Given the description of an element on the screen output the (x, y) to click on. 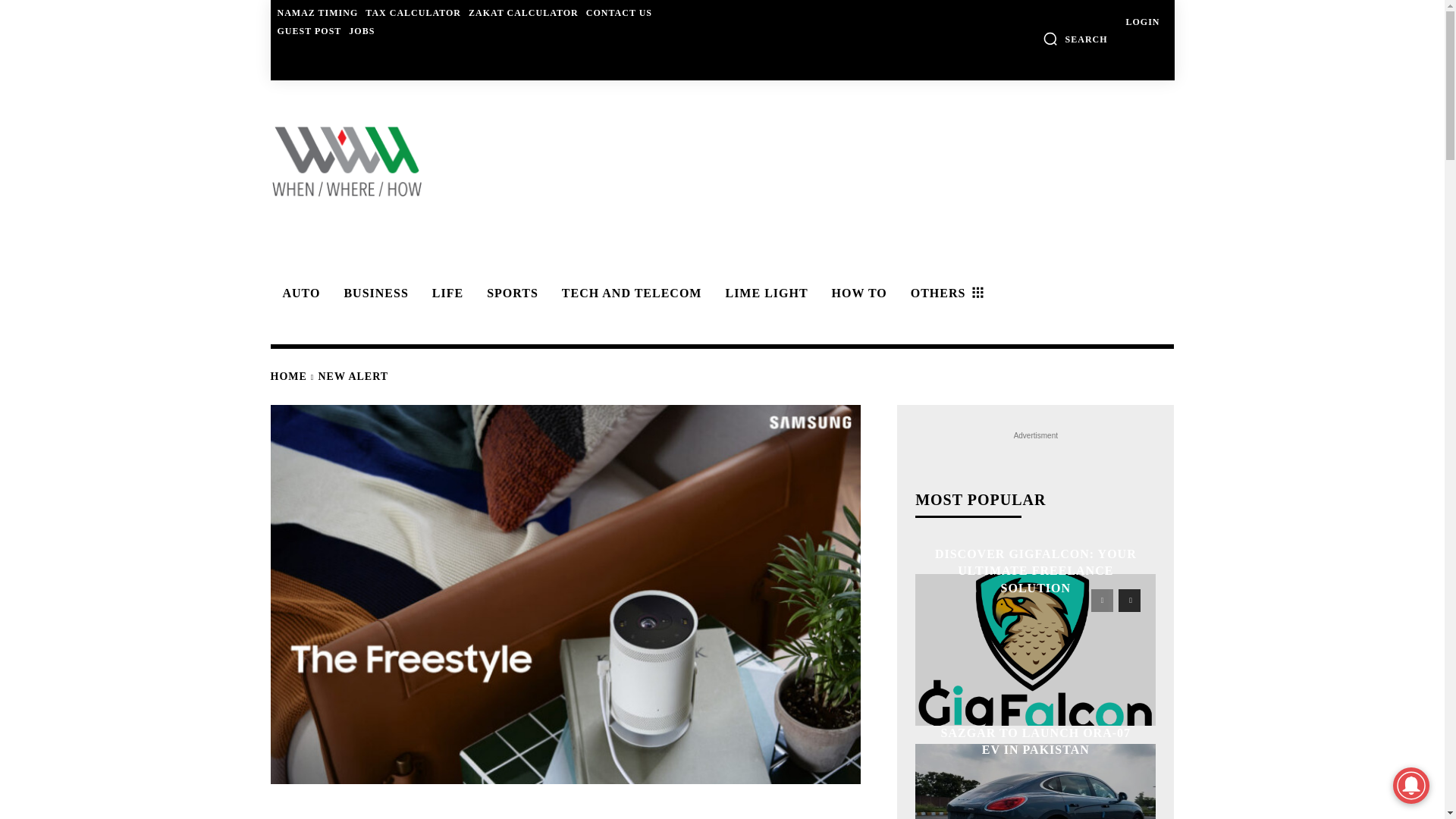
HOW TO (857, 293)
BUSINESS (372, 293)
LIME LIGHT (764, 293)
LOGIN (1141, 21)
AUTO (298, 293)
TECH AND TELECOM (630, 293)
OTHERS (945, 293)
LIFE (445, 293)
SPORTS (510, 293)
TAX CALCULATOR (413, 12)
